Given the description of an element on the screen output the (x, y) to click on. 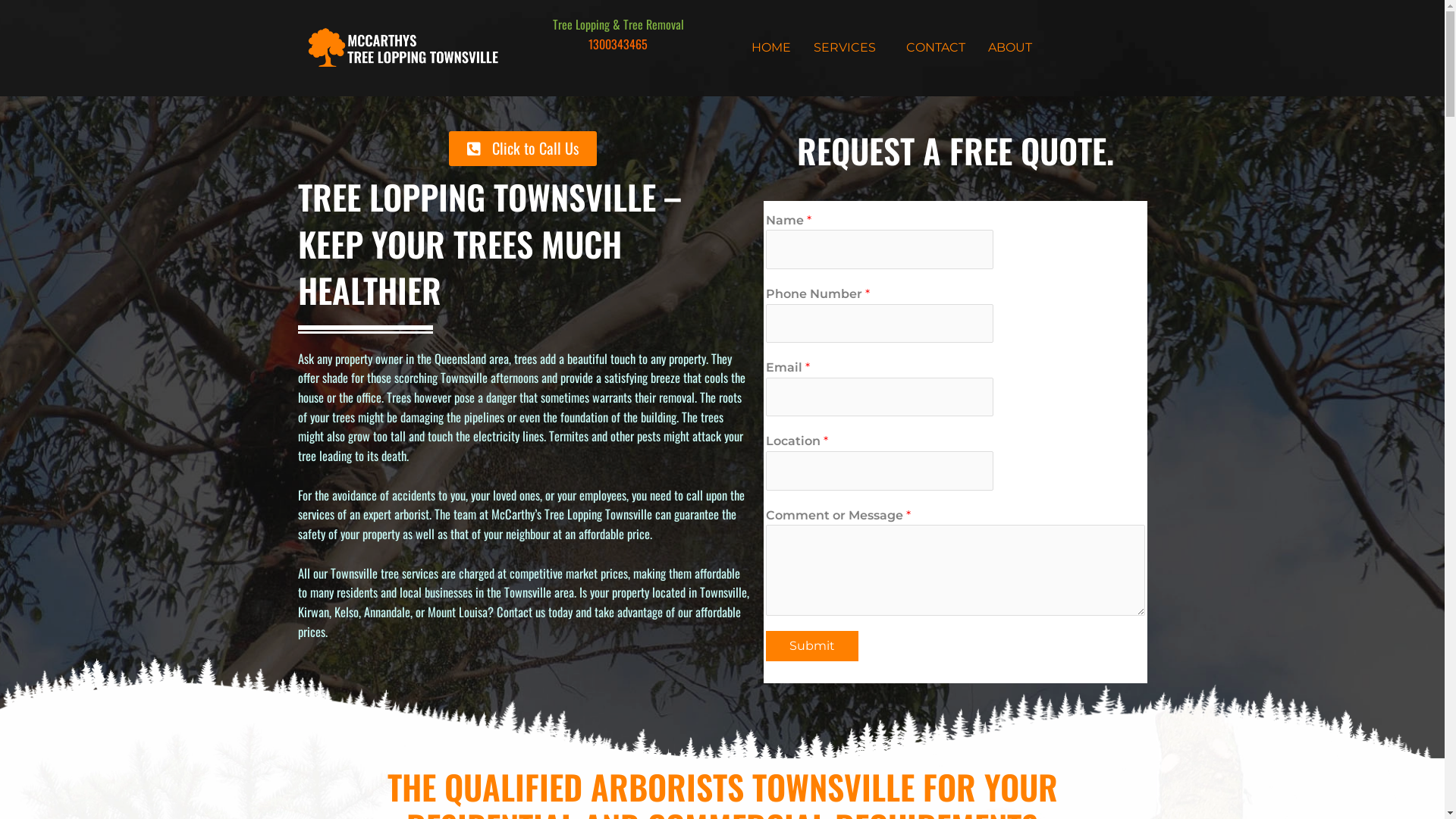
Submit Element type: text (811, 645)
SERVICES Element type: text (848, 47)
ABOUT Element type: text (1009, 47)
CONTACT Element type: text (935, 47)
HOME Element type: text (771, 47)
Click to Call Us Element type: text (522, 148)
1300343465 Element type: text (617, 43)
